Given the description of an element on the screen output the (x, y) to click on. 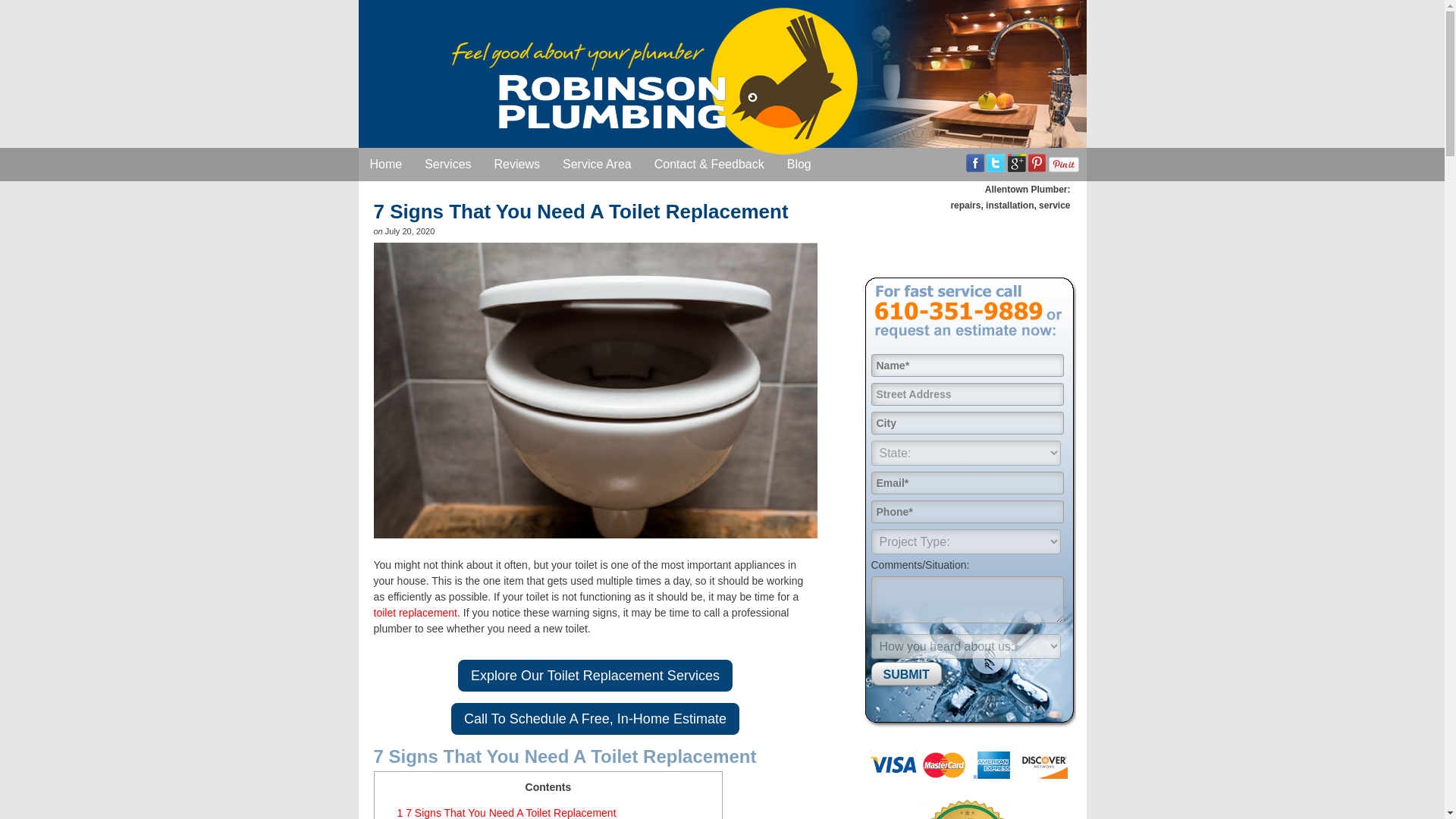
twitter (995, 162)
Service Area (597, 164)
Blog (799, 164)
Services (447, 164)
Explore Our Toilet Replacement Services (595, 675)
toilet replacement (414, 612)
Reviews (517, 164)
Call To Schedule A Free, In-Home Estimate (595, 718)
pin-it (1063, 164)
pinterest (1036, 162)
